Given the description of an element on the screen output the (x, y) to click on. 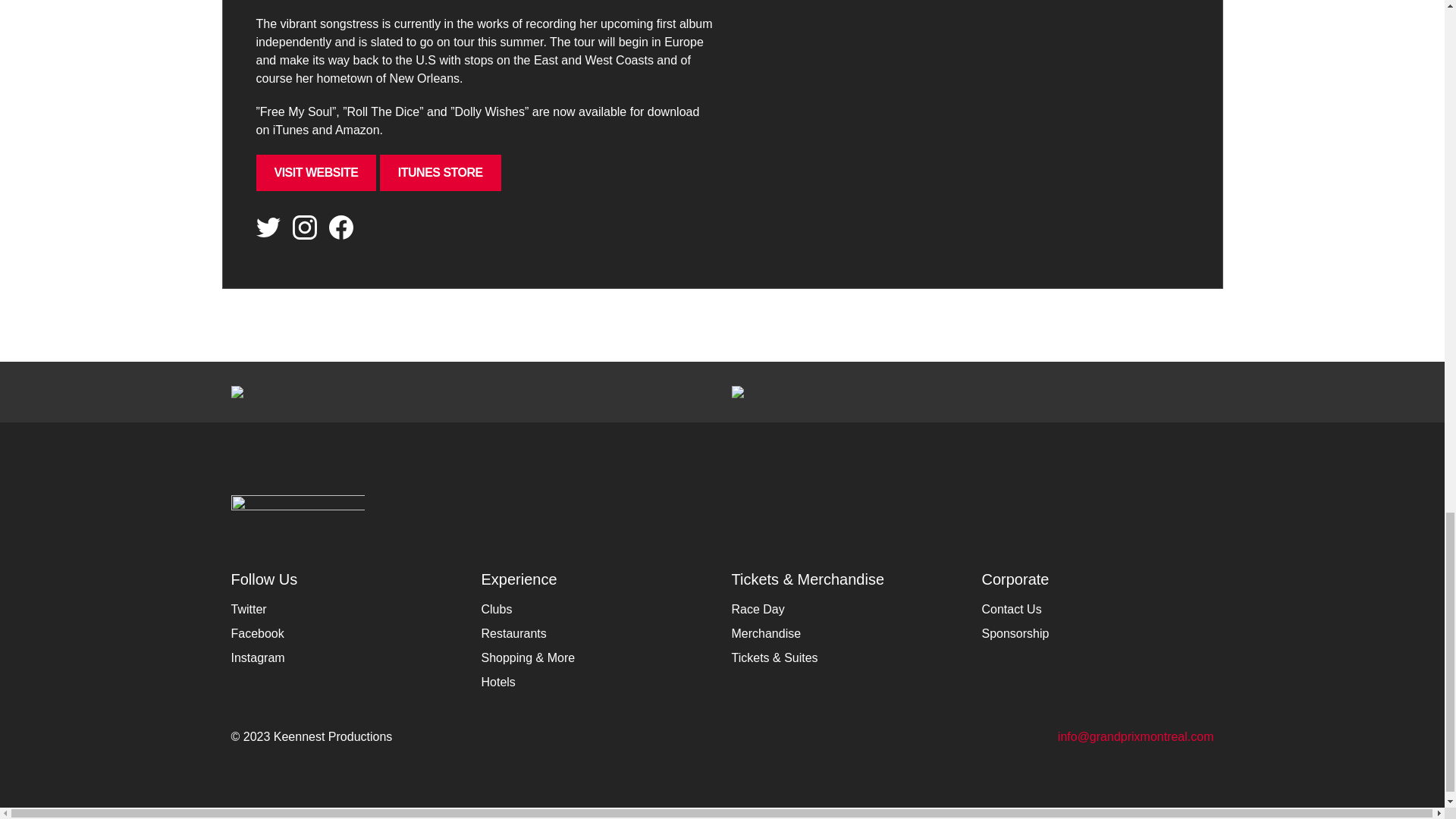
Instagram (256, 657)
ITUNES STORE (440, 172)
Facebook (256, 633)
Twitter (248, 608)
VISIT WEBSITE (316, 172)
